Given the description of an element on the screen output the (x, y) to click on. 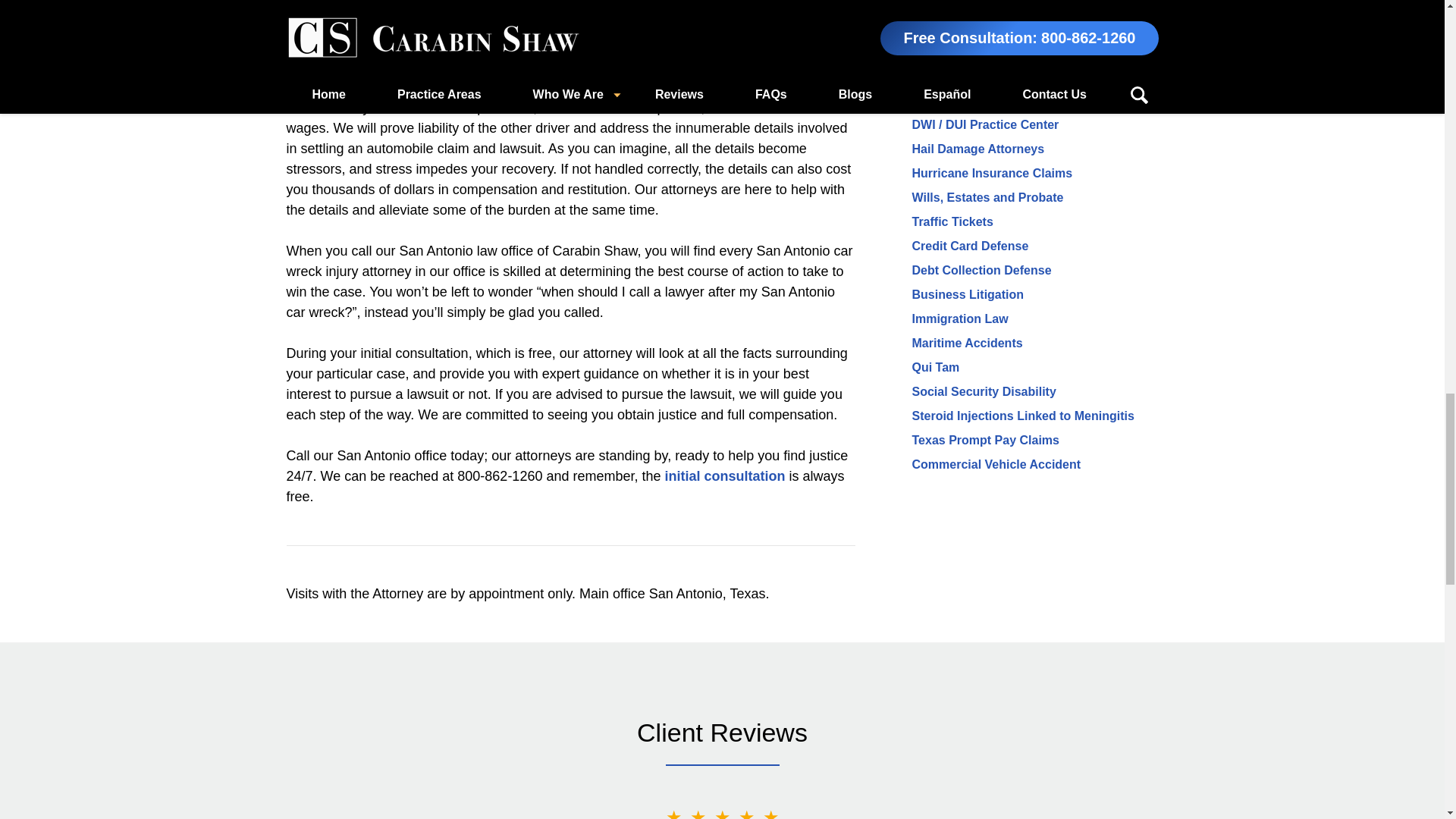
initial consultation (723, 476)
